Given the description of an element on the screen output the (x, y) to click on. 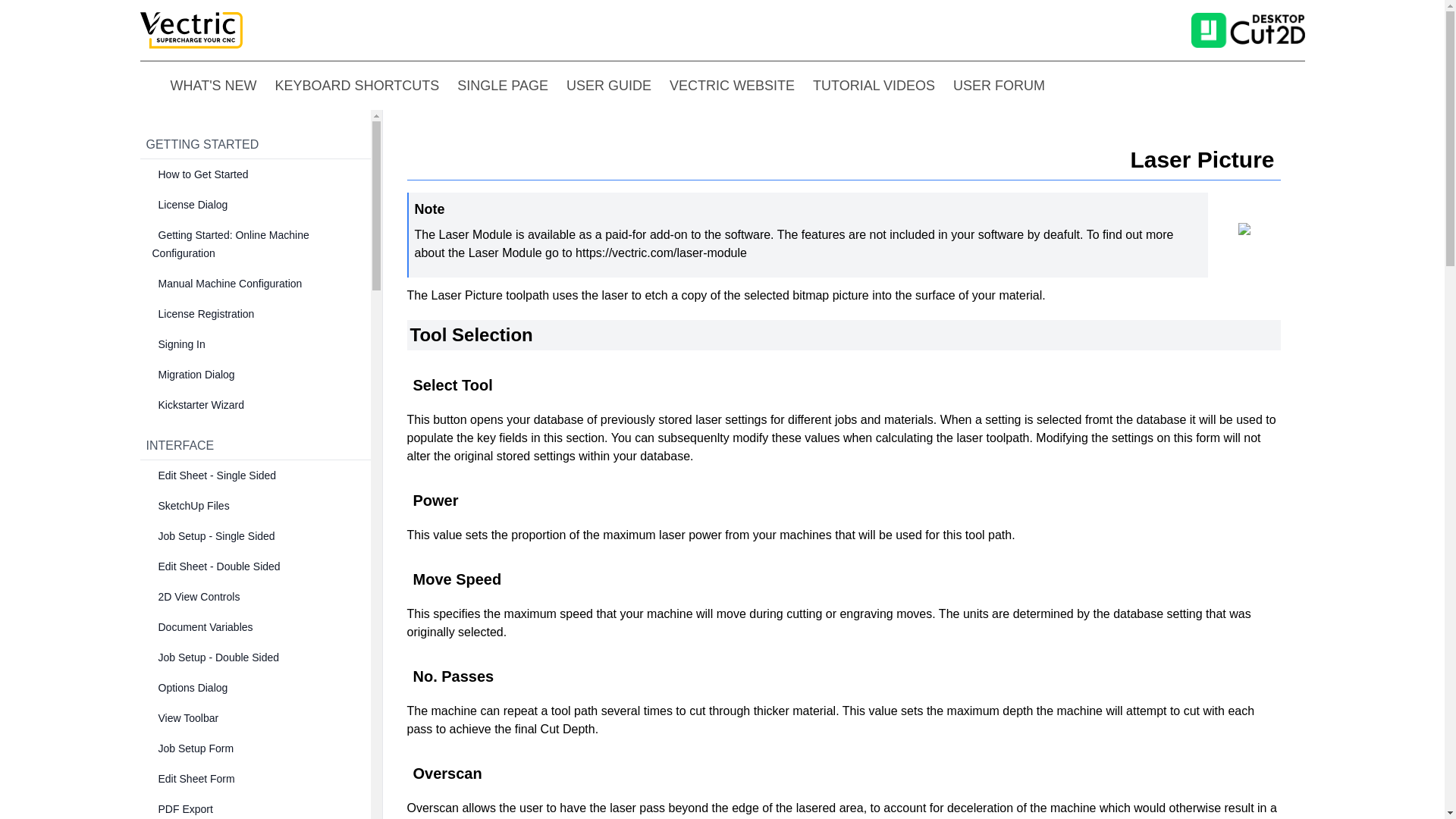
WHAT'S NEW (213, 85)
VECTRIC WEBSITE (731, 85)
TUTORIAL VIDEOS (873, 85)
SINGLE PAGE (502, 85)
KEYBOARD SHORTCUTS (357, 85)
USER GUIDE (608, 85)
USER FORUM (999, 85)
